Given the description of an element on the screen output the (x, y) to click on. 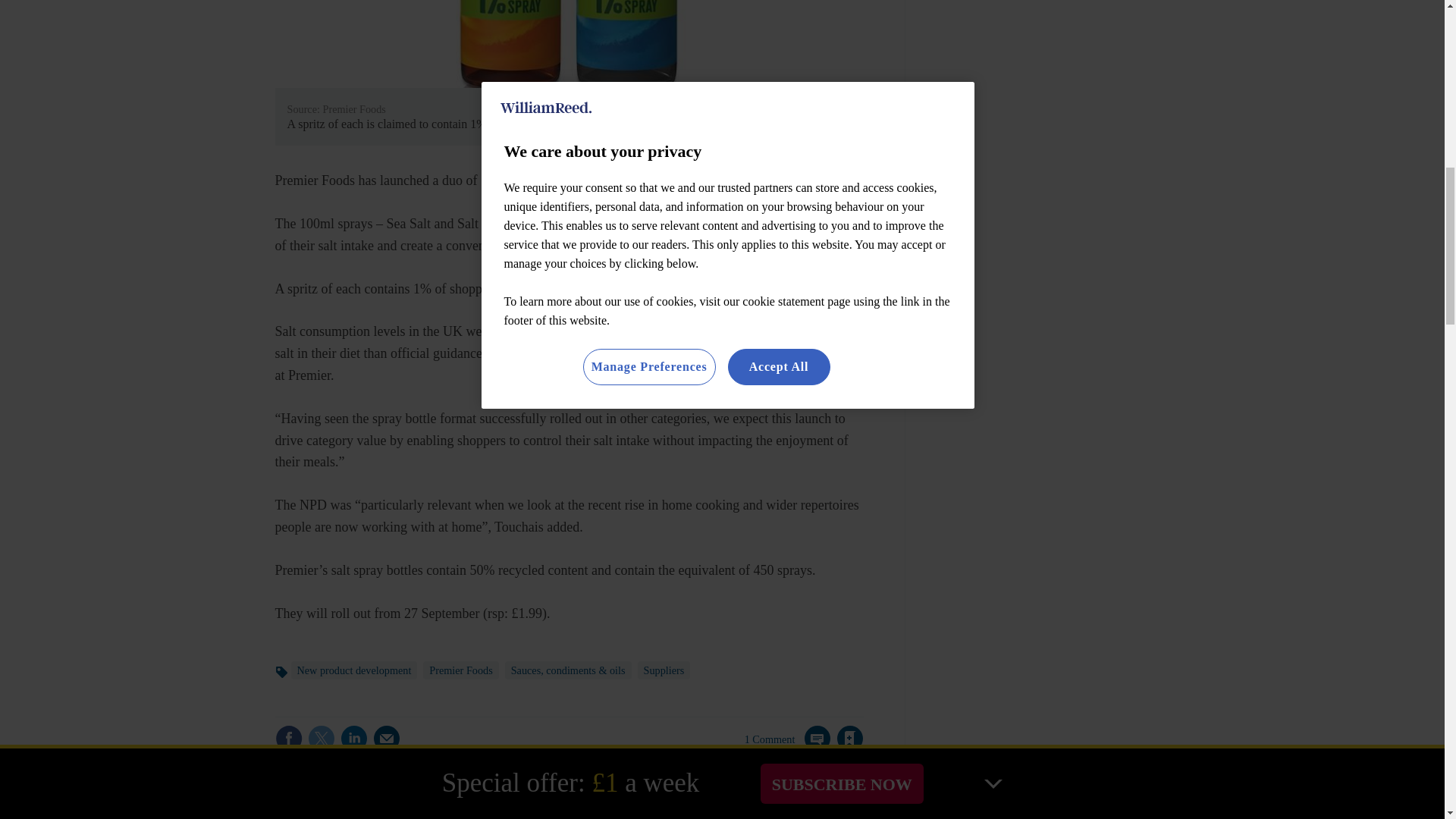
Email this article (386, 738)
Share this on Twitter (320, 738)
1 Comment (787, 747)
Share this on Facebook (288, 738)
Share this on Linked in (352, 738)
